Given the description of an element on the screen output the (x, y) to click on. 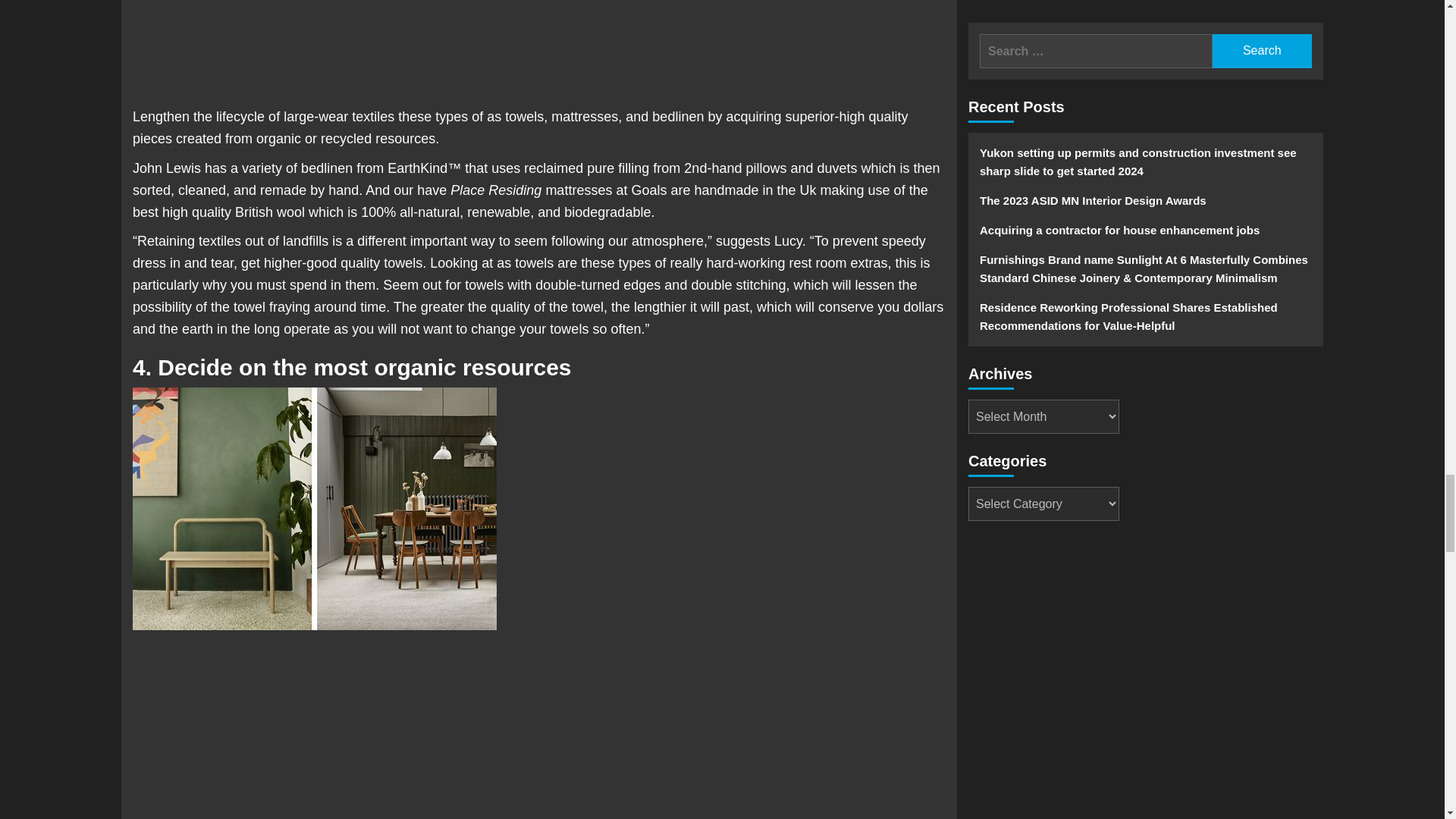
Goals (648, 190)
Sustainable home design (314, 508)
